Given the description of an element on the screen output the (x, y) to click on. 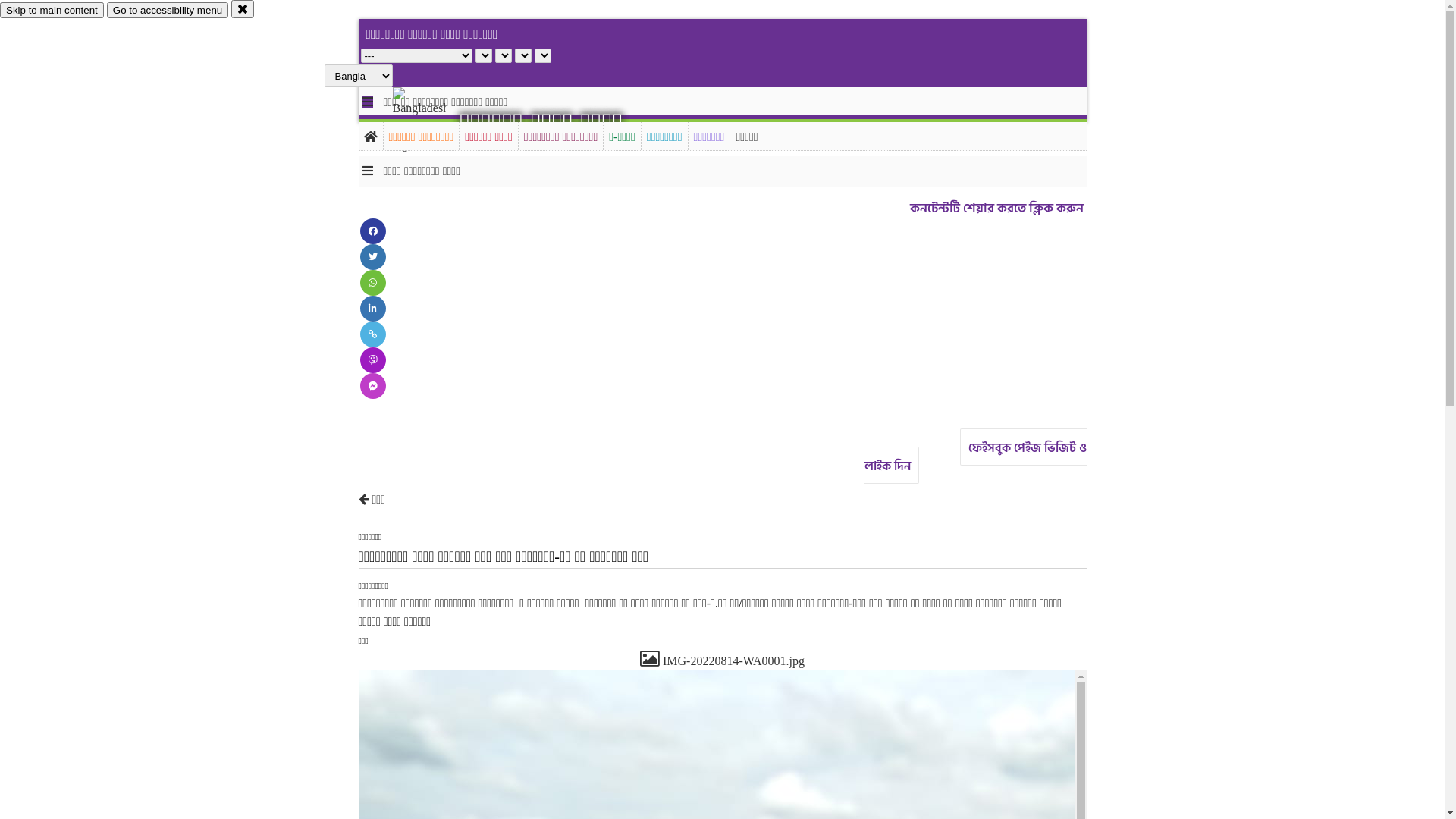
Skip to main content Element type: text (51, 10)
close Element type: hover (242, 9)

                
             Element type: hover (431, 120)
IMG-20220814-WA0001.jpg Element type: text (722, 660)
Go to accessibility menu Element type: text (167, 10)
